Given the description of an element on the screen output the (x, y) to click on. 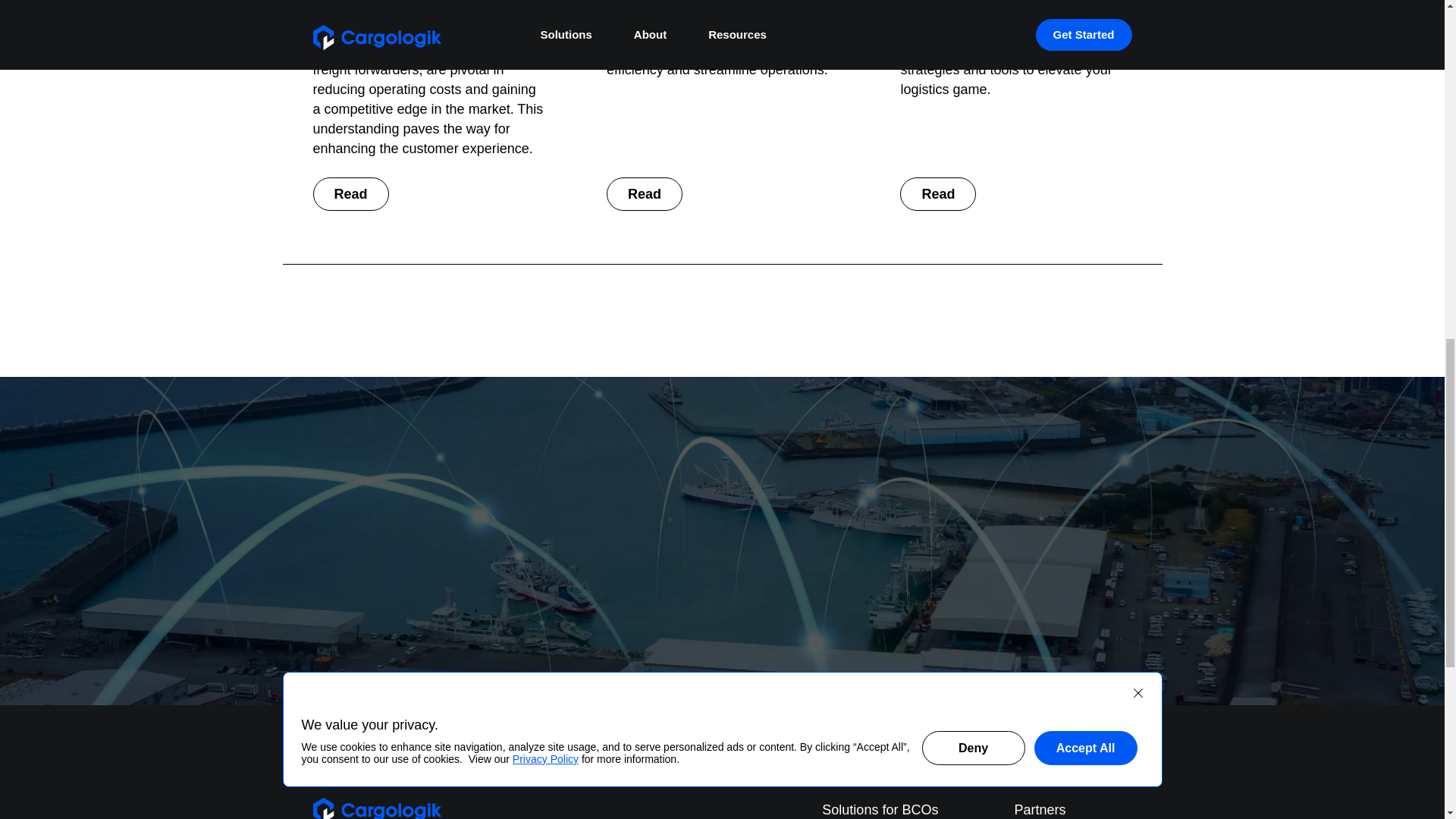
Read (644, 193)
Read (350, 193)
Read (937, 193)
